Given the description of an element on the screen output the (x, y) to click on. 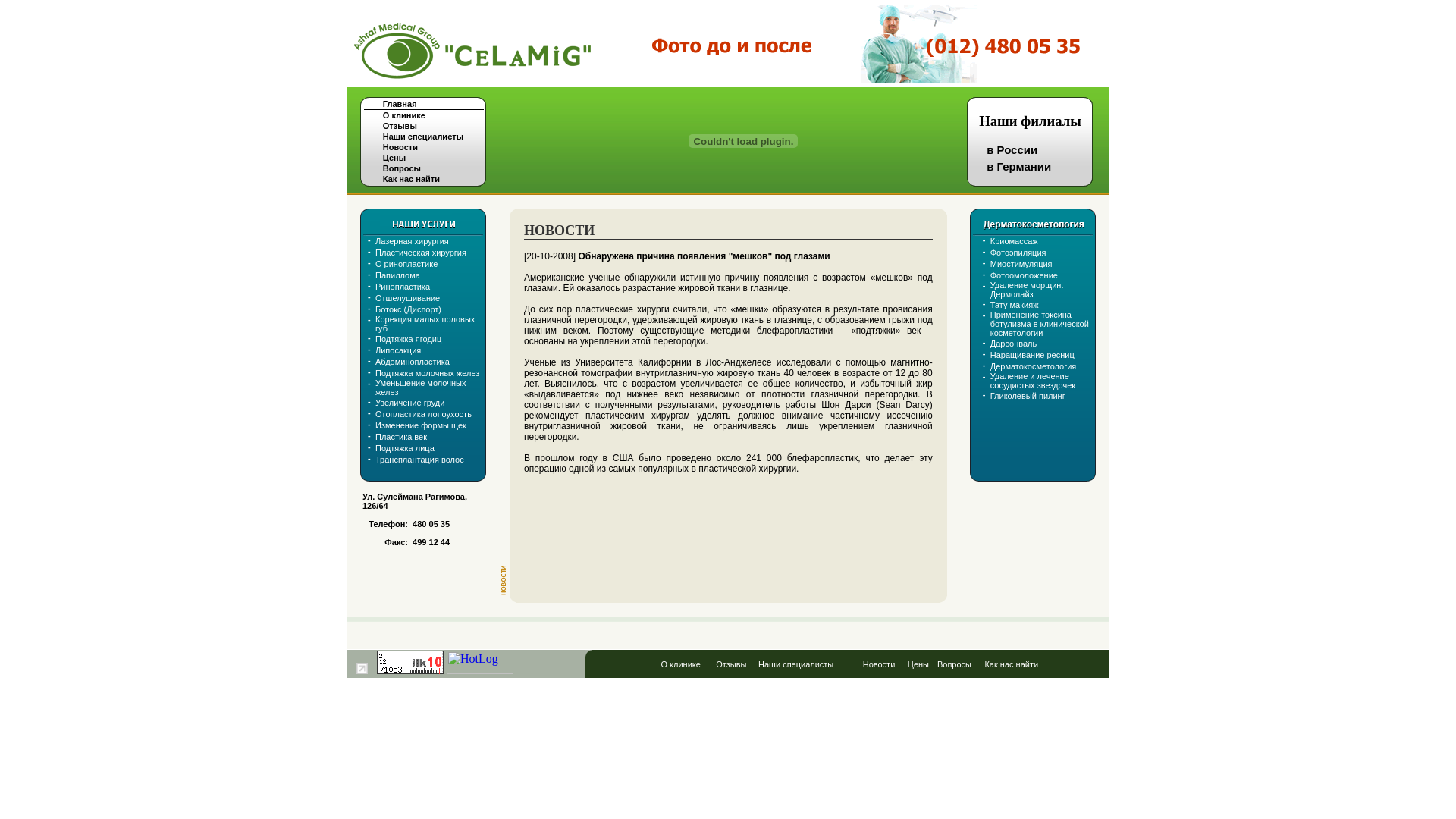
LiveInternet Element type: hover (361, 668)
